Given the description of an element on the screen output the (x, y) to click on. 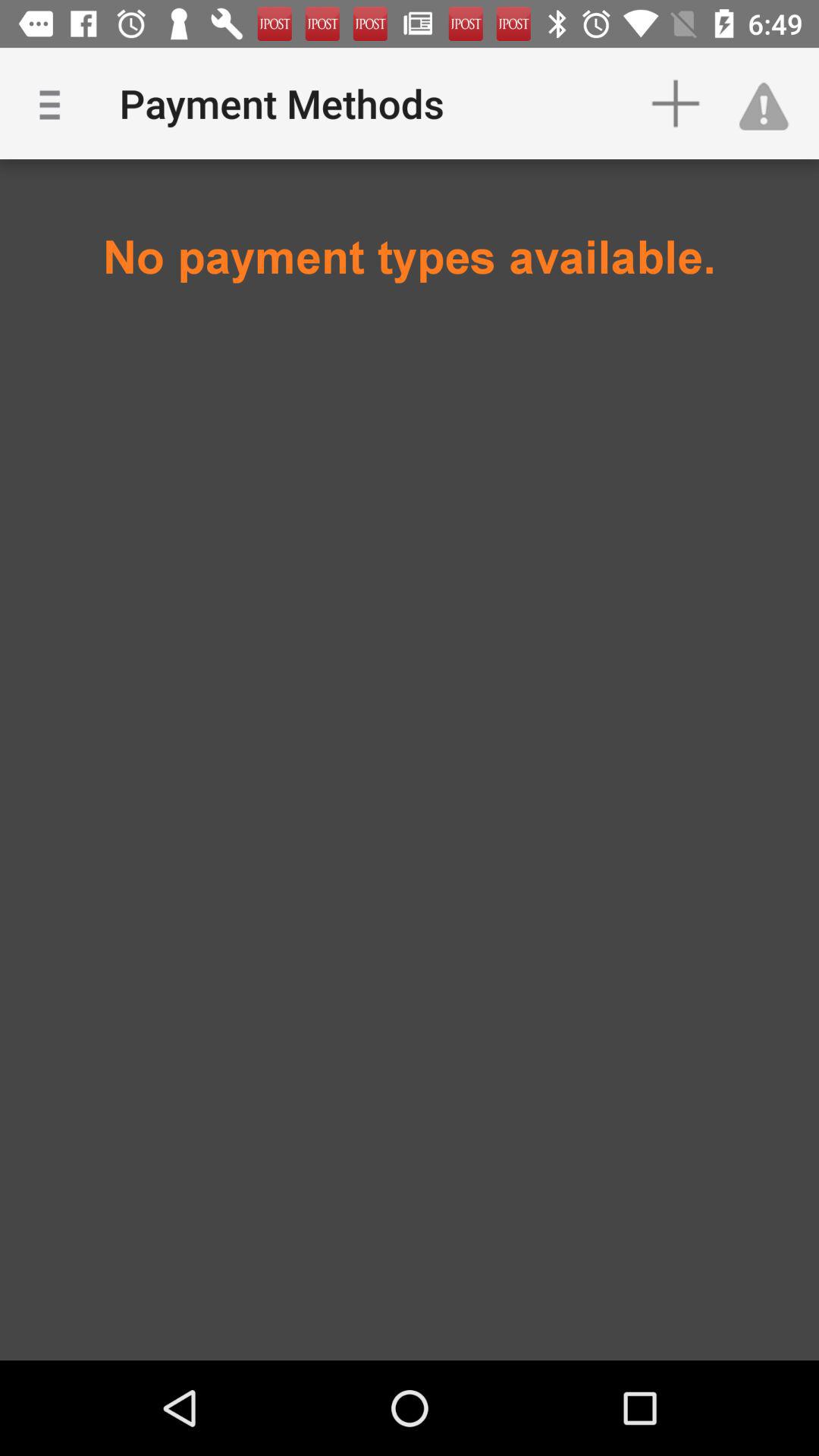
select item above no payment types icon (771, 103)
